Given the description of an element on the screen output the (x, y) to click on. 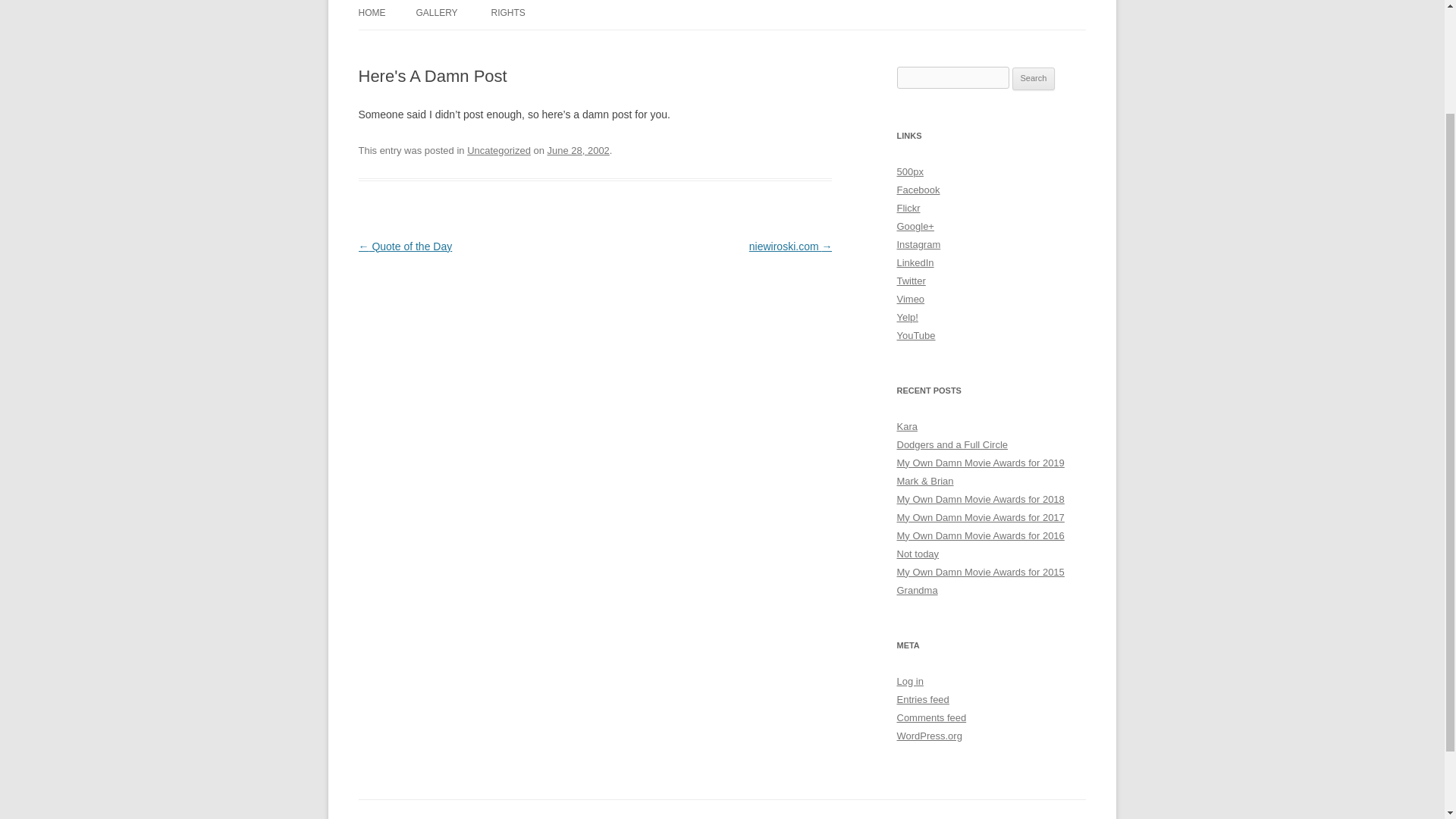
My Own Damn Movie Awards for 2016 (980, 535)
WordPress.org (928, 736)
Entries feed (922, 699)
My Own Damn Movie Awards for 2017 (980, 517)
LinkedIn (914, 262)
RIGHTS (508, 14)
My Own Damn Movie Awards for 2019 (980, 462)
Vimeo (910, 298)
Comments feed (931, 717)
Search (1033, 78)
